Given the description of an element on the screen output the (x, y) to click on. 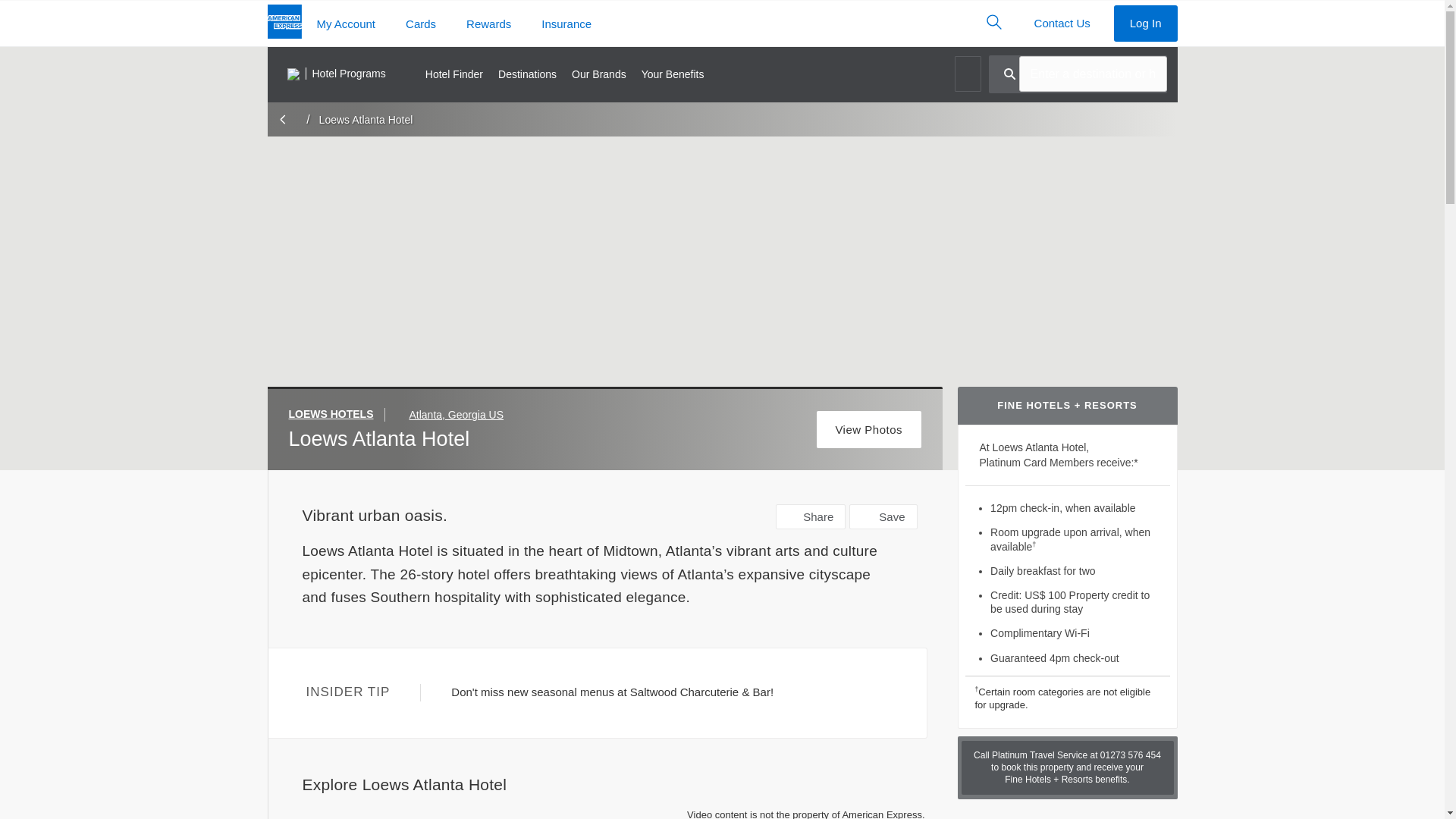
Log In (1145, 22)
Contact Us (1061, 23)
Search (994, 21)
